Given the description of an element on the screen output the (x, y) to click on. 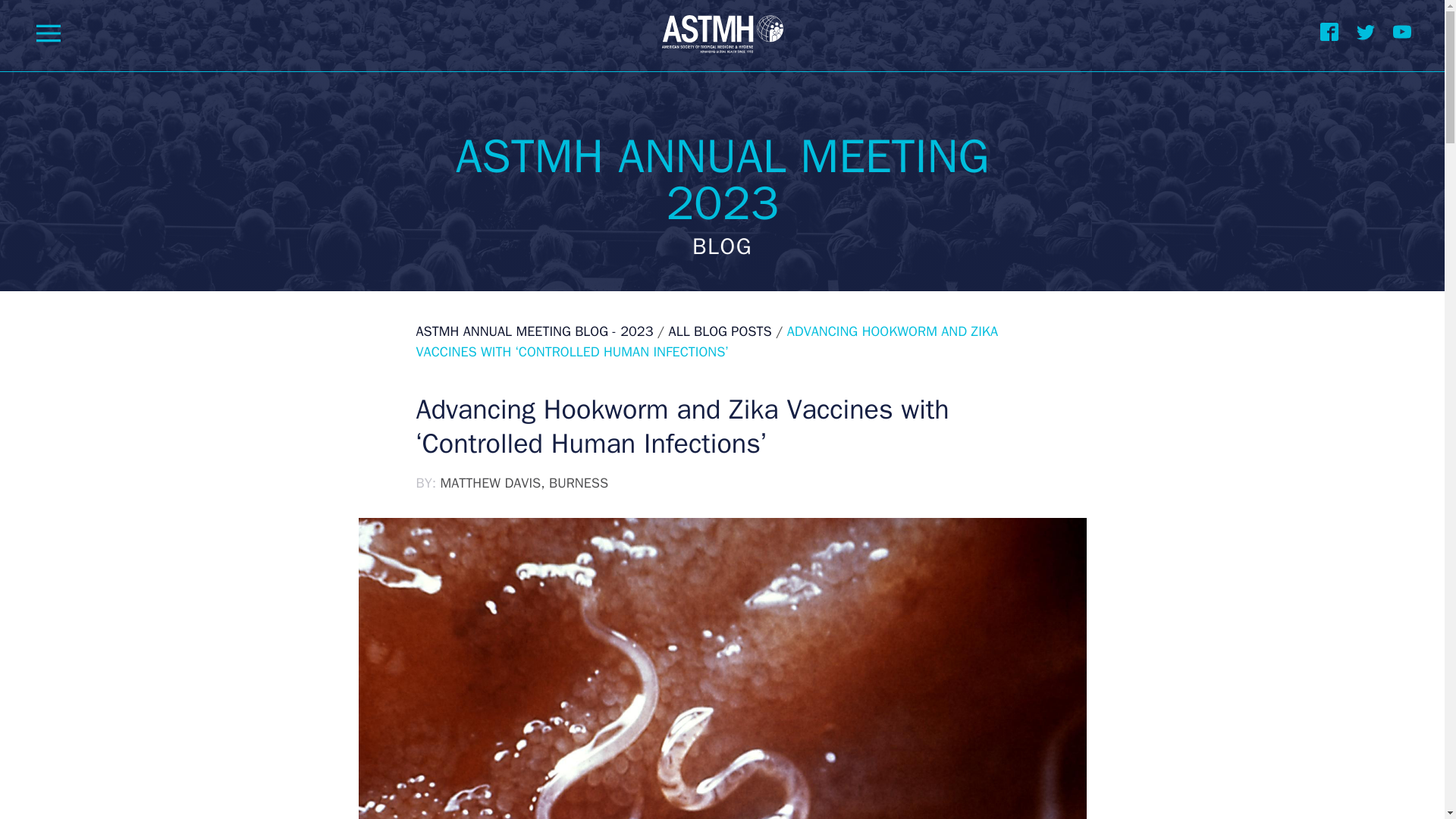
ALL BLOG POSTS (719, 330)
ASTMH ANNUAL MEETING BLOG - 2023 (533, 330)
